Given the description of an element on the screen output the (x, y) to click on. 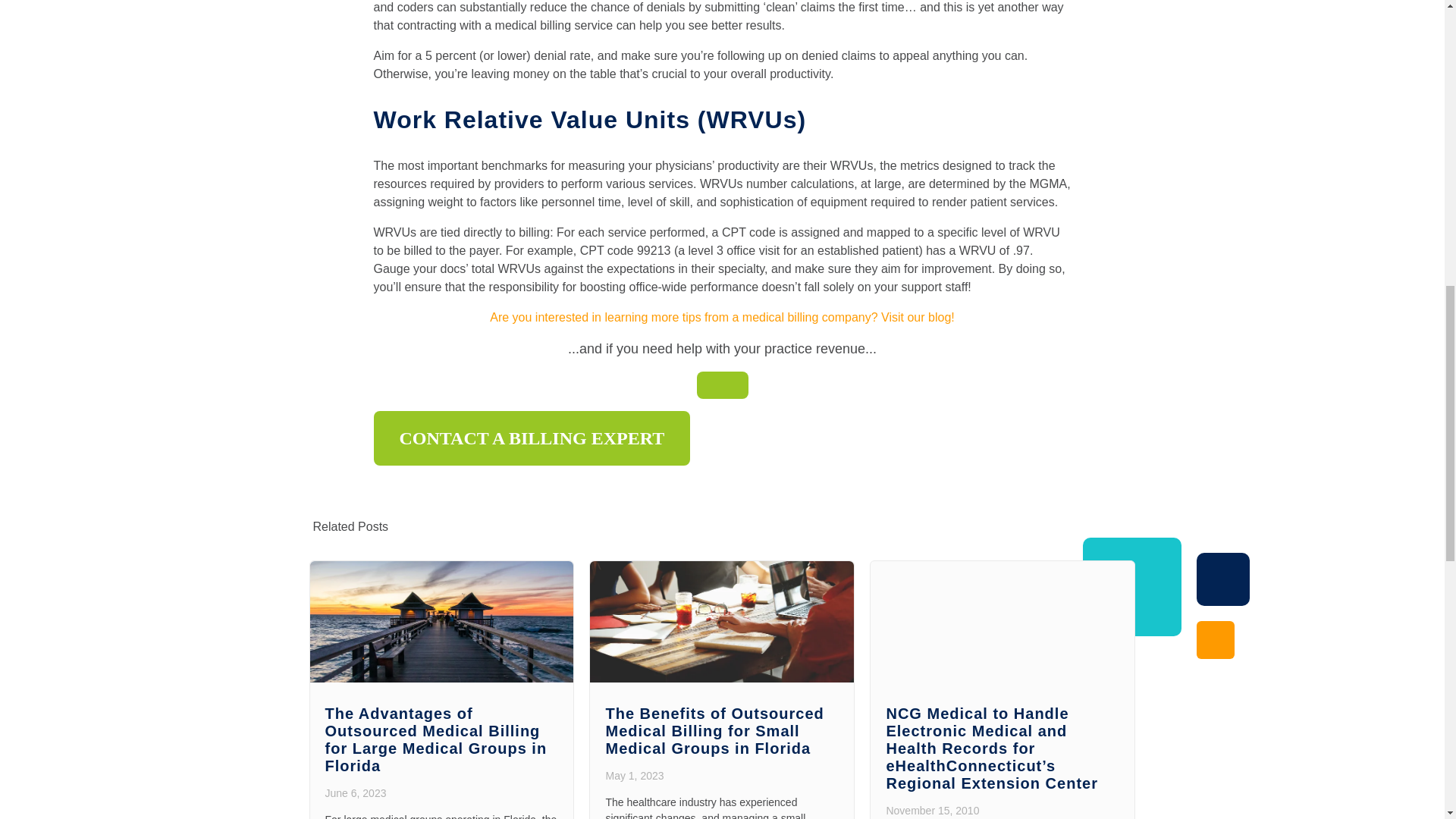
CONTACT A BILLING EXPERT (721, 384)
CONTACT A BILLING EXPERT (531, 438)
CONTACT A BILLING EXPERT (531, 438)
